Given the description of an element on the screen output the (x, y) to click on. 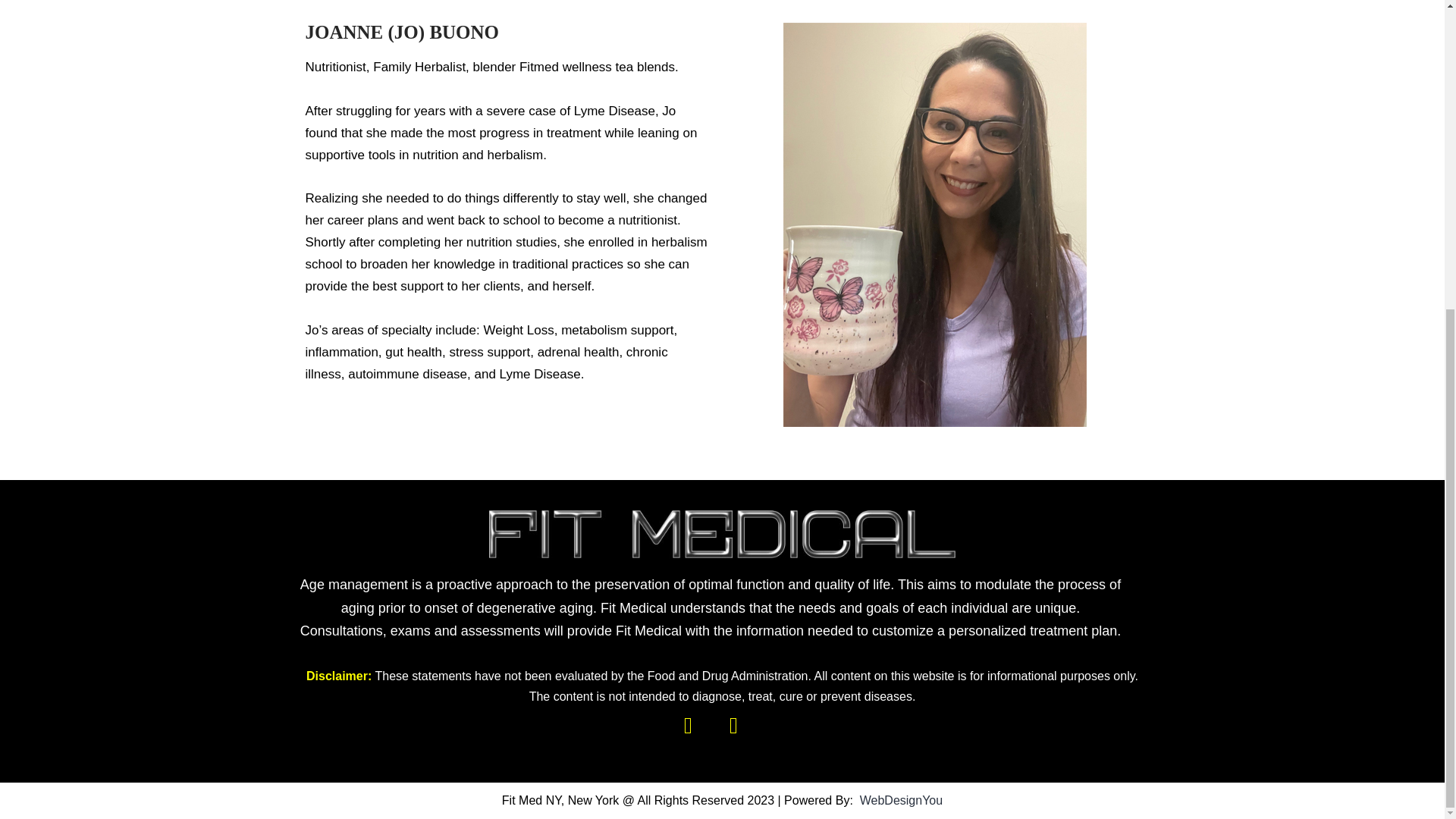
 WebDesignYou (899, 799)
